Given the description of an element on the screen output the (x, y) to click on. 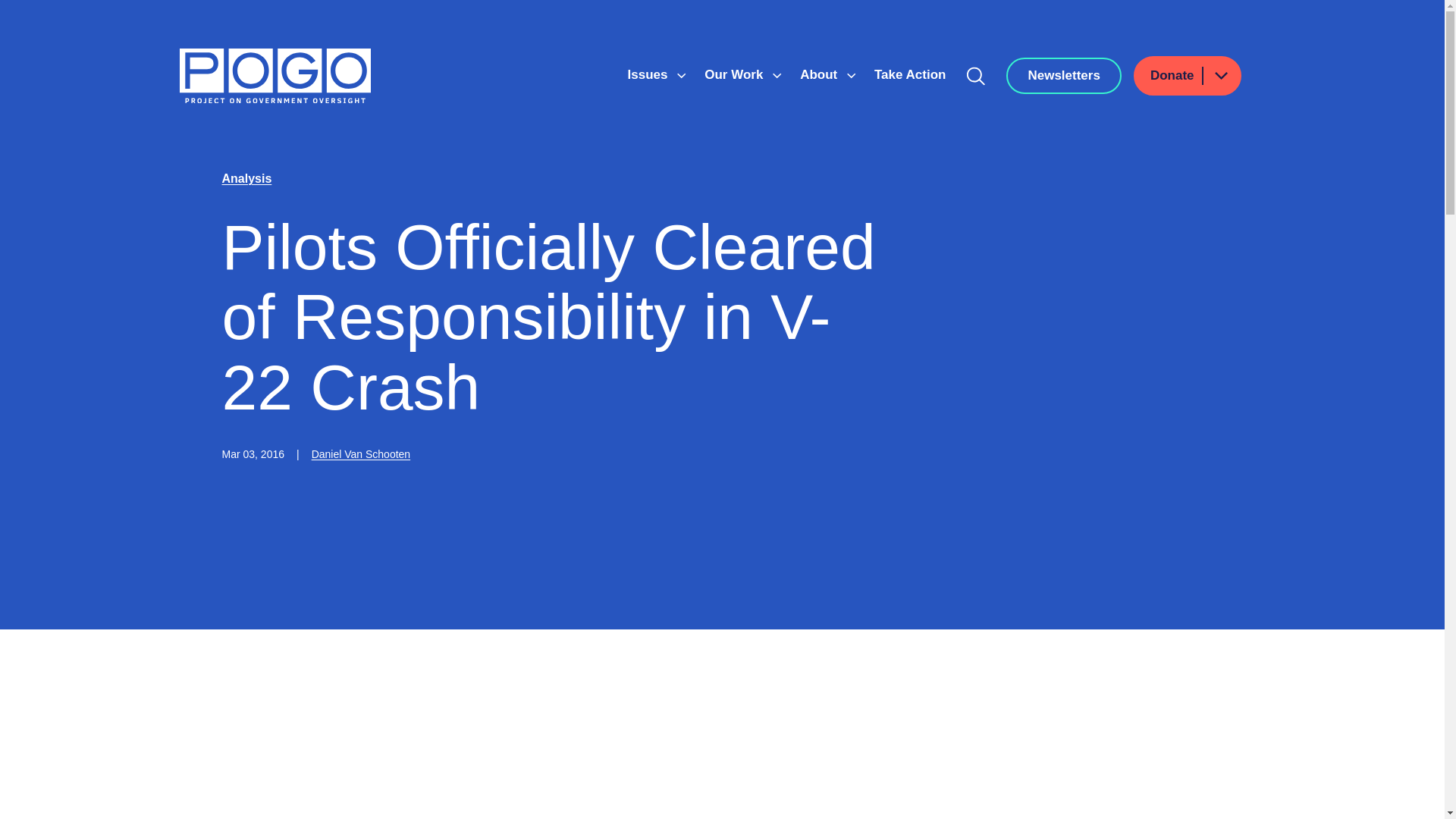
Show submenu for Issues (681, 75)
Search (976, 75)
Newsletters (1063, 75)
Show submenu for About (851, 75)
Take Action (909, 74)
Our Work (735, 74)
Donate (1187, 75)
About (820, 74)
Issues (649, 74)
Home (274, 75)
